Given the description of an element on the screen output the (x, y) to click on. 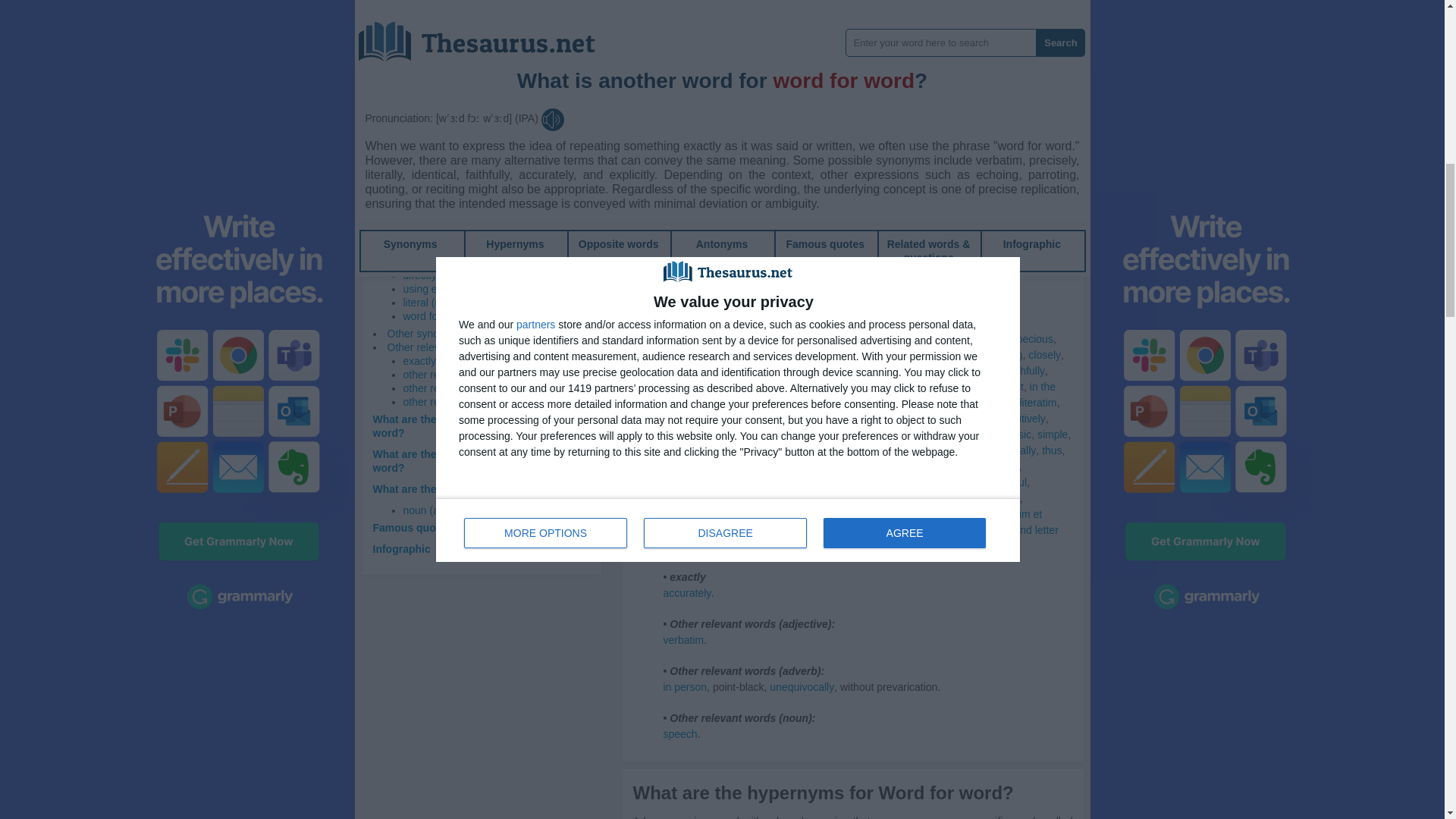
What are the opposite words for word for word? (476, 460)
Synonyms for Word for word (964, 338)
Synonyms for Word for word (895, 354)
Infographic (401, 548)
Other synonyms (425, 333)
Synonyms for Word for word (674, 205)
Synonyms for Word for word (674, 159)
Famous quotes with Word for word (461, 527)
Synonyms for Word for word (991, 354)
Synonyms for Word for word (767, 354)
